Given the description of an element on the screen output the (x, y) to click on. 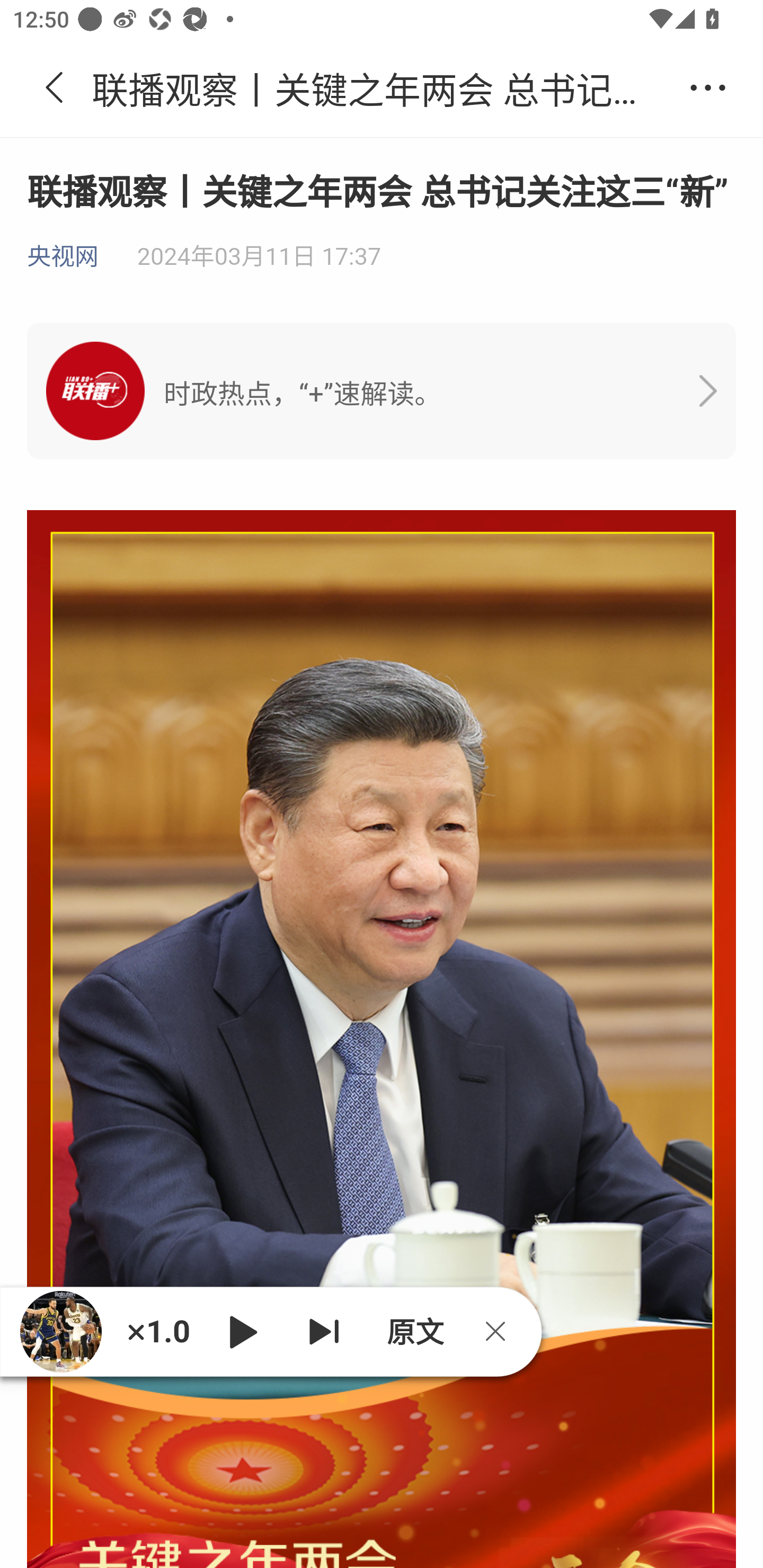
联播观察丨关键之年两会 总书记关注这三“新” (381, 87)
 返回 (54, 87)
 更多 (707, 87)
央视网 (62, 257)
时政热点，“+”速解读。 1617256979184_623 时政热点，“+”速解读。 (381, 390)
 播放 (242, 1330)
 下一个 (323, 1330)
 关闭 (501, 1330)
播放器 (60, 1331)
原文 (413, 1331)
 1.0 (157, 1330)
